Given the description of an element on the screen output the (x, y) to click on. 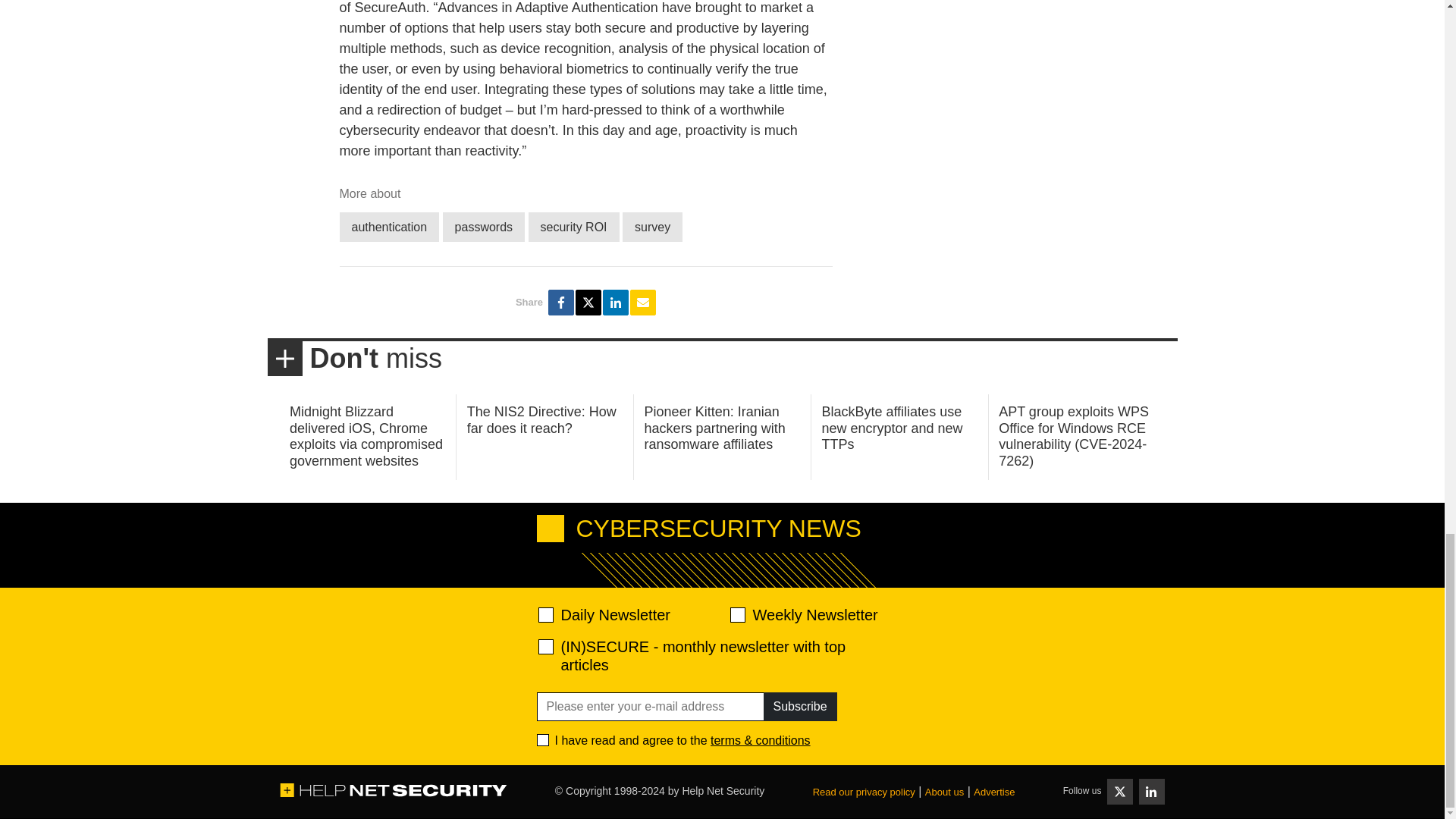
28abe5d9ef (545, 646)
1 (542, 739)
survey (652, 225)
security ROI (574, 225)
d2d471aafa (736, 614)
passwords (483, 225)
security ROI (574, 225)
The NIS2 Directive: How far does it reach? (541, 419)
